Given the description of an element on the screen output the (x, y) to click on. 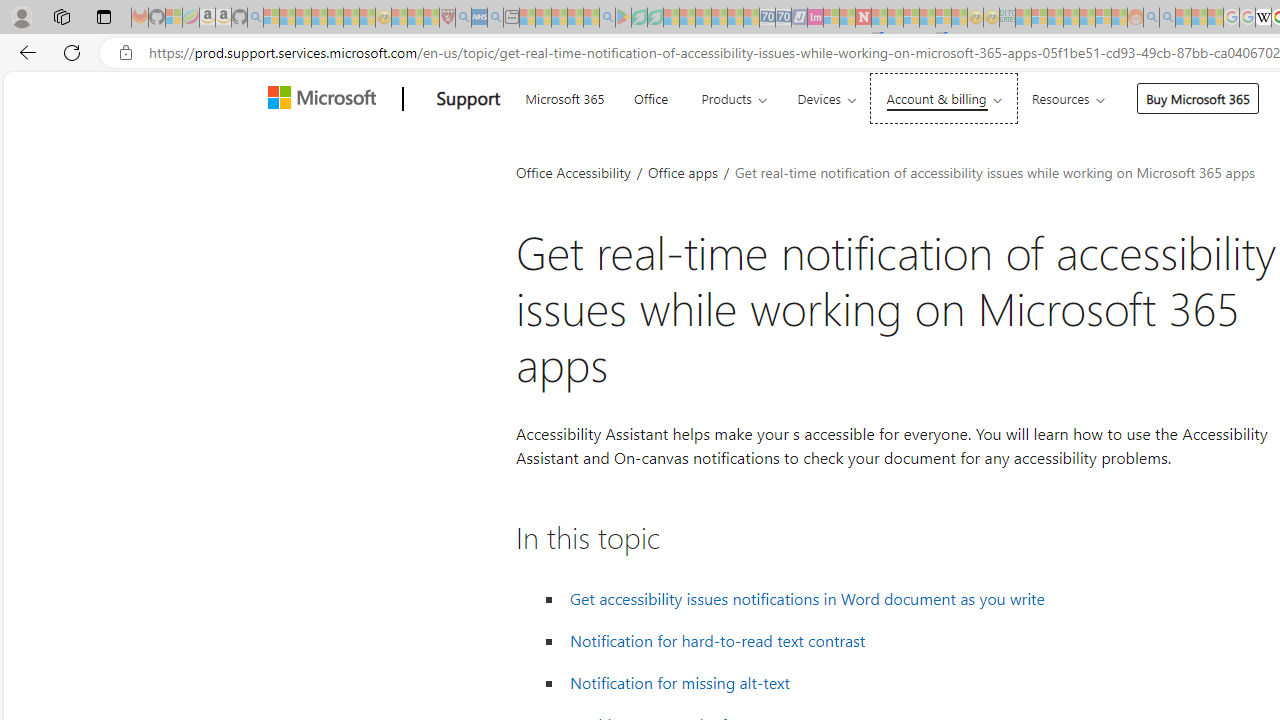
 Notification for hard-to-read text contrast (717, 641)
Office apps  (683, 172)
Microsoft account | Privacy - Sleeping (1039, 17)
